Given the description of an element on the screen output the (x, y) to click on. 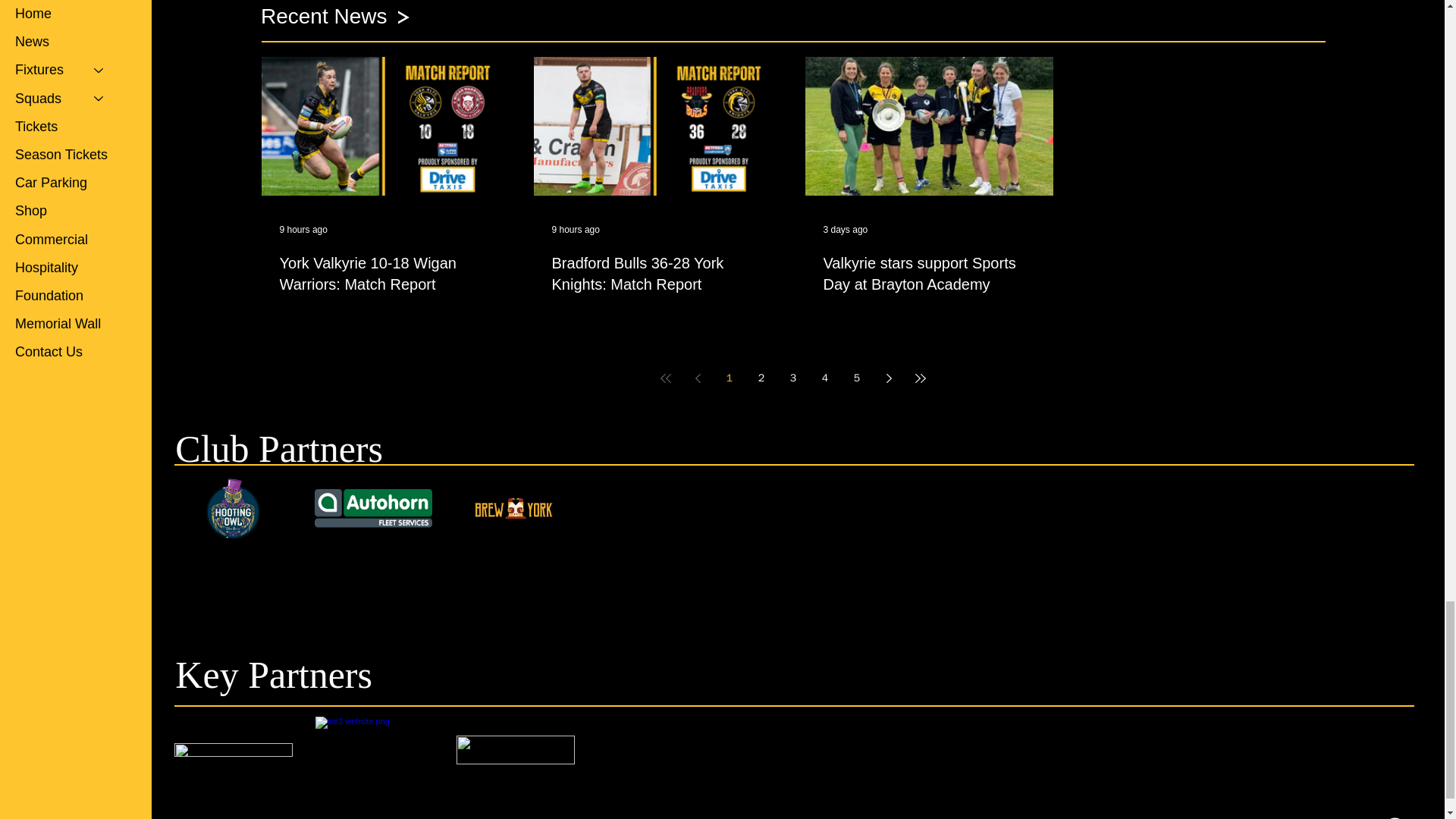
3 days ago (845, 229)
9 hours ago (303, 229)
9 hours ago (575, 229)
